Given the description of an element on the screen output the (x, y) to click on. 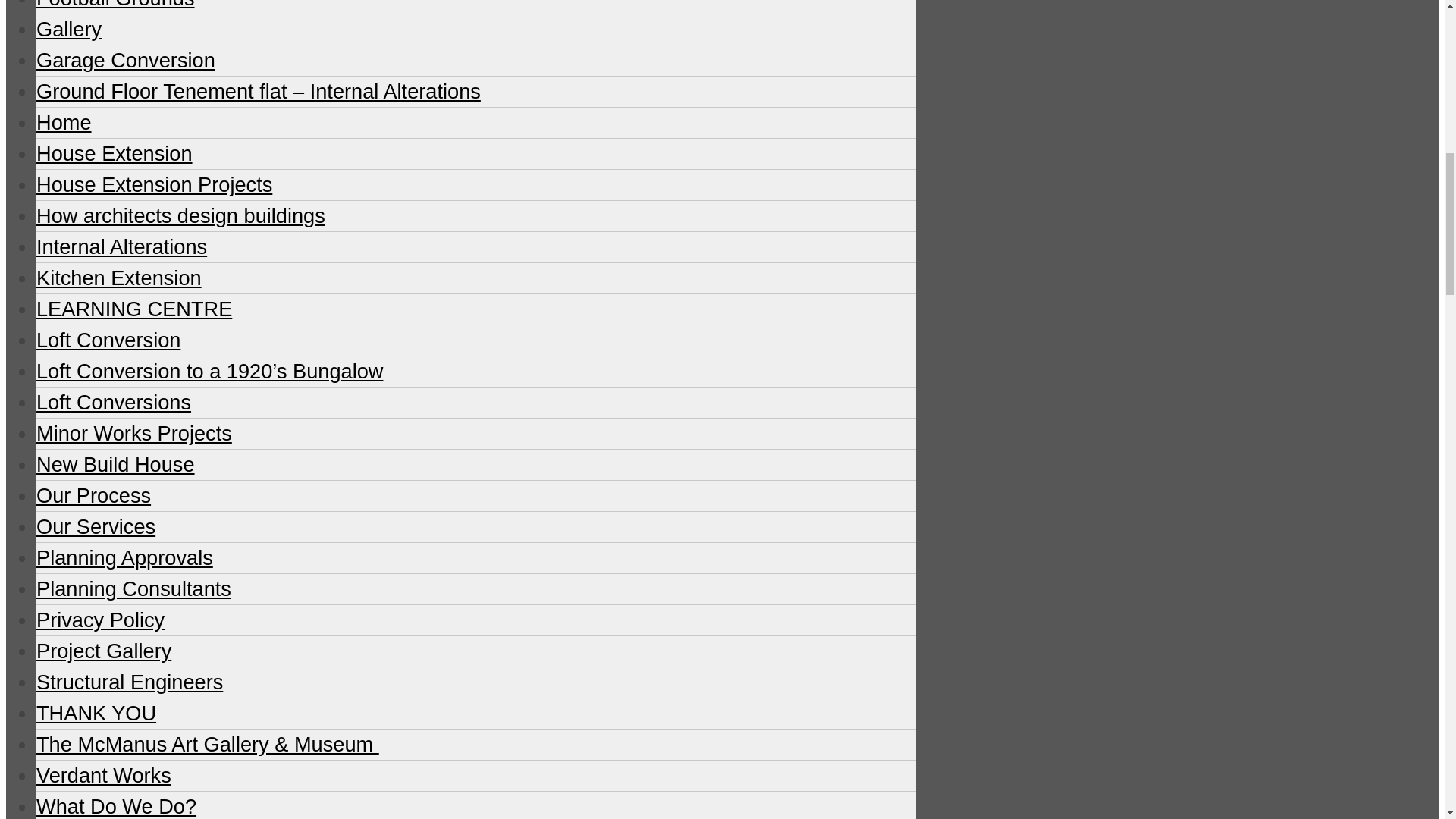
New Build House (115, 463)
Home (63, 122)
Kitchen Extension (119, 277)
Garage Conversion (125, 60)
House Extension (114, 153)
Loft Conversion (108, 340)
Gallery (68, 28)
Minor Works Projects (133, 433)
LEARNING CENTRE (133, 309)
Loft Conversions (113, 402)
